Given the description of an element on the screen output the (x, y) to click on. 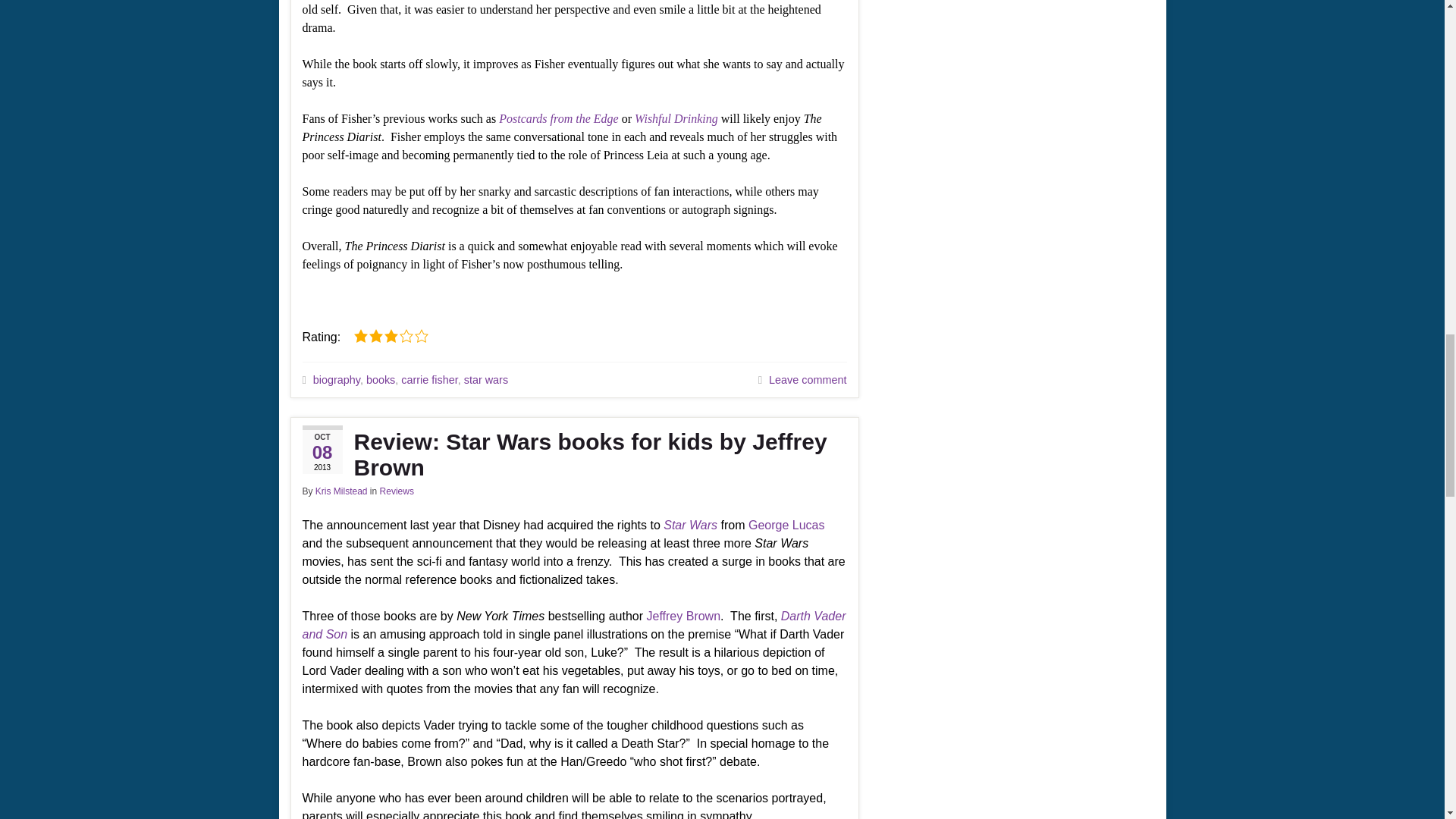
Jeffrey Brown (683, 615)
George Lucas (786, 524)
books (380, 379)
Star Wars (690, 524)
star wars (486, 379)
Reviews (396, 491)
Postcards from the Edge (558, 118)
Darth Vader and Son (573, 624)
Review: Star Wars books for kids by Jeffrey Brown (573, 454)
biography (336, 379)
carrie fisher (429, 379)
Leave comment (806, 379)
Wishful Drinking (675, 118)
Kris Milstead (341, 491)
